Given the description of an element on the screen output the (x, y) to click on. 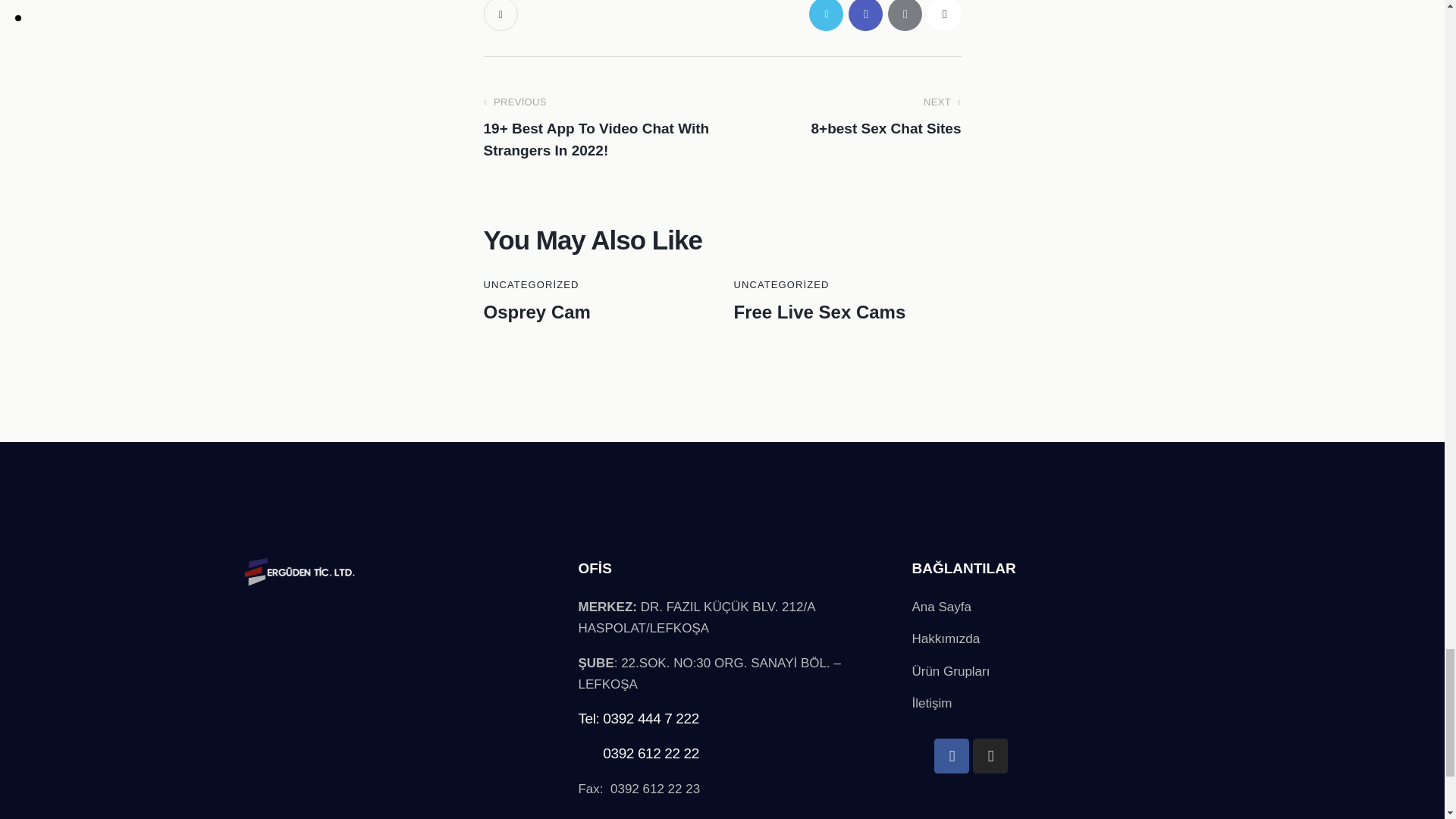
Copy URL to clipboard (943, 15)
Like (502, 15)
